Given the description of an element on the screen output the (x, y) to click on. 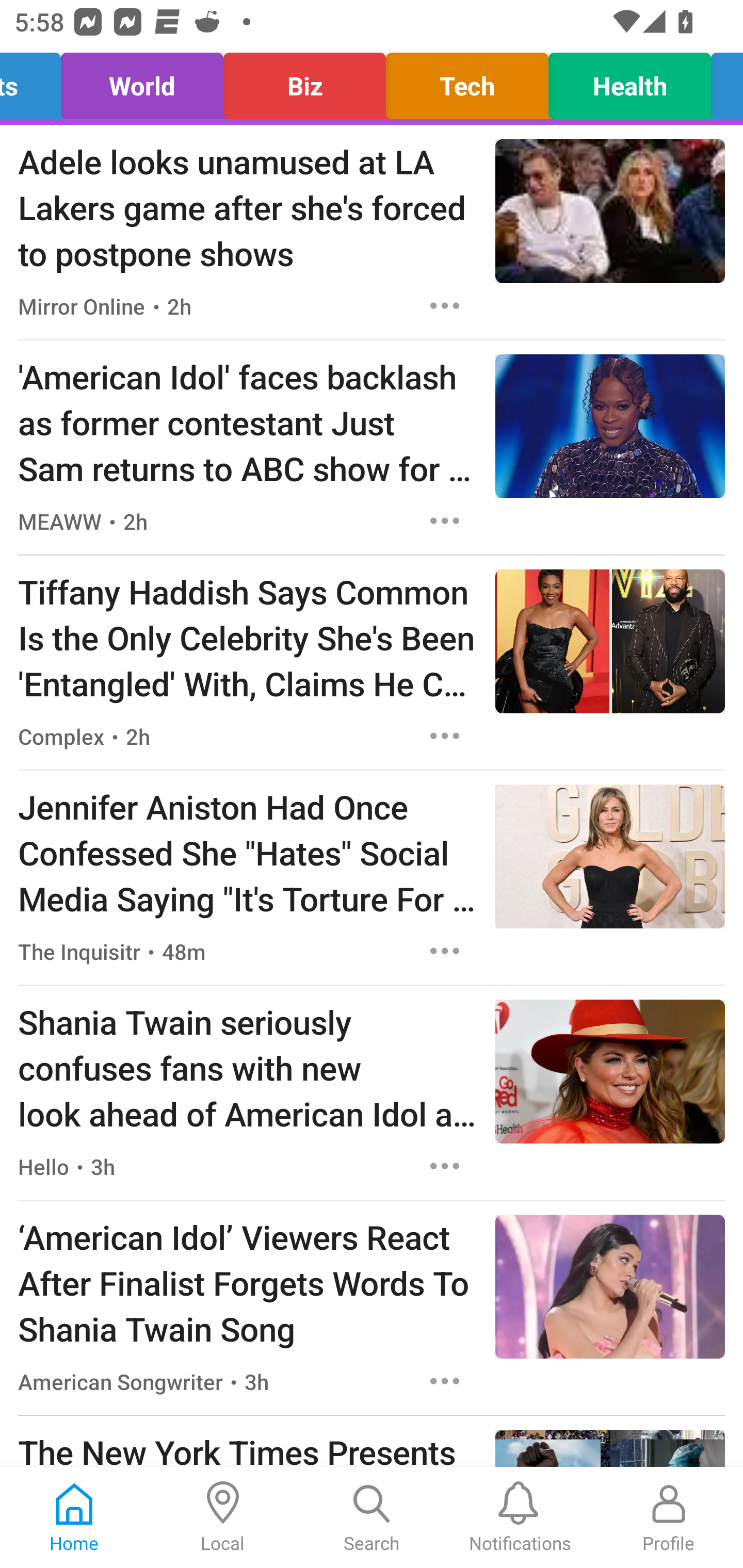
Sports (36, 81)
World (141, 81)
Biz (304, 81)
Tech (467, 81)
Health (629, 81)
Options (444, 305)
Options (444, 520)
Options (444, 736)
Options (444, 950)
Options (444, 1166)
Options (444, 1381)
Local (222, 1517)
Search (371, 1517)
Notifications (519, 1517)
Profile (668, 1517)
